Given the description of an element on the screen output the (x, y) to click on. 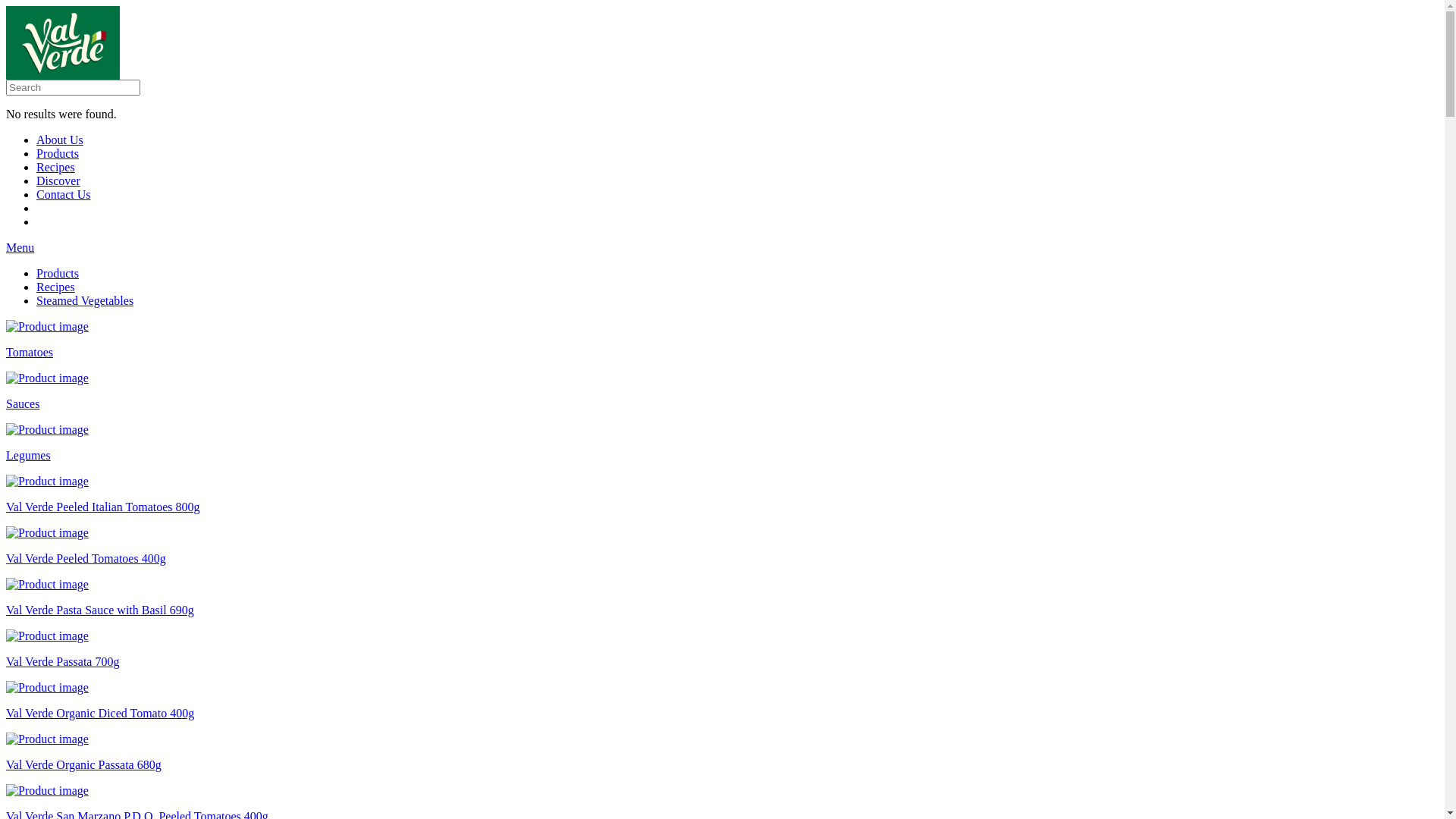
Recipes Element type: text (55, 166)
Menu Element type: text (20, 247)
Products Element type: text (57, 153)
Val Verde Organic Passata 680g Element type: text (722, 751)
About Us Element type: text (59, 139)
Discover Element type: text (58, 180)
Val Verde Passata 700g Element type: text (722, 648)
Sauces Element type: text (722, 391)
Products Element type: text (57, 272)
Val Verde Peeled Tomatoes 400g Element type: text (722, 545)
Steamed Vegetables Element type: text (84, 300)
Contact Us Element type: text (63, 194)
Val Verde Pasta Sauce with Basil 690g Element type: text (722, 597)
Legumes Element type: text (722, 442)
Tomatoes Element type: text (722, 339)
Recipes Element type: text (55, 286)
Val Verde Organic Diced Tomato 400g Element type: text (722, 700)
Val Verde Peeled Italian Tomatoes 800g Element type: text (722, 494)
